Given the description of an element on the screen output the (x, y) to click on. 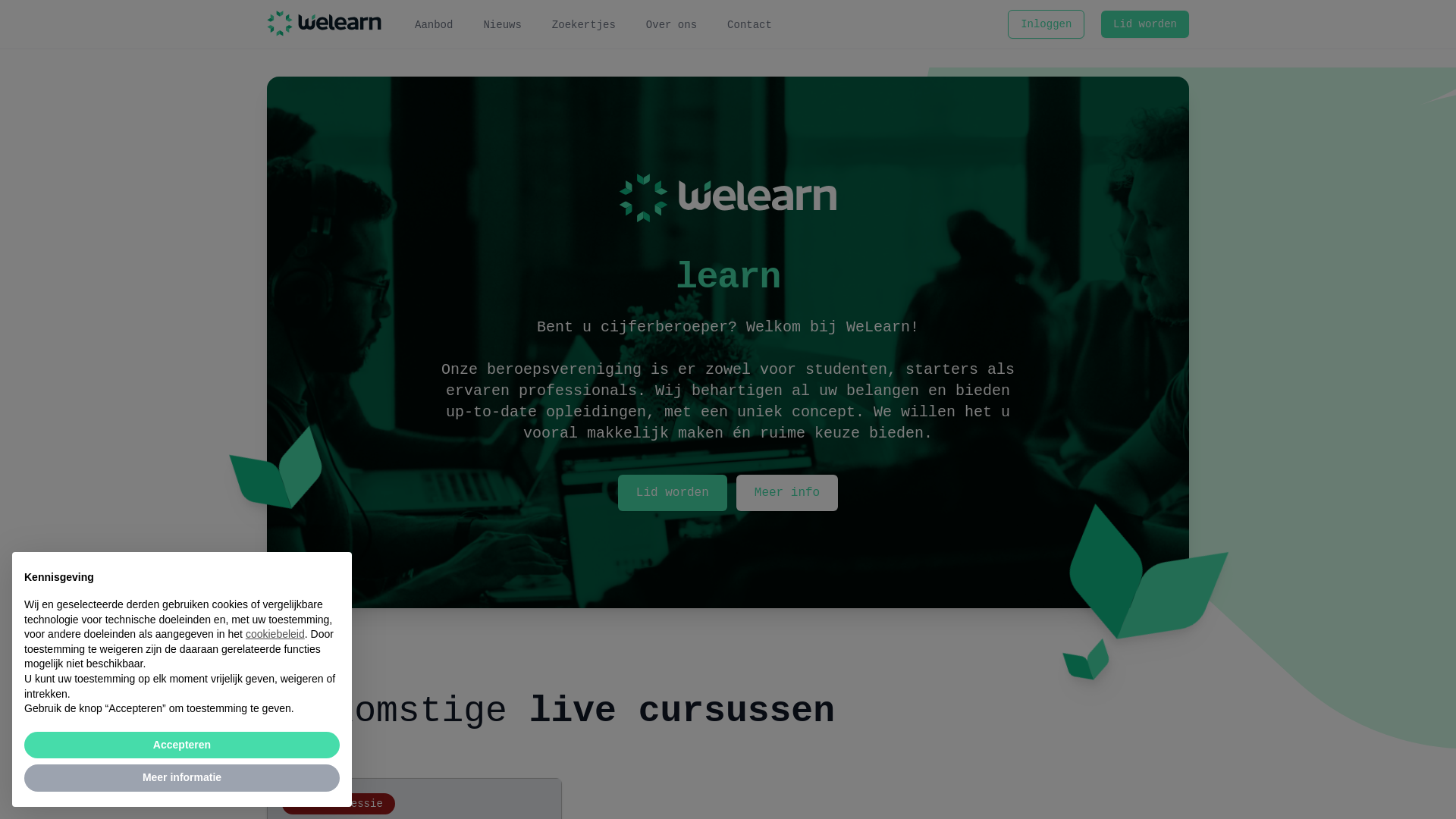
cookiebeleid Element type: text (274, 633)
Lid worden Element type: text (1145, 23)
Meer info Element type: text (786, 492)
Accepteren Element type: text (181, 745)
Meer informatie Element type: text (181, 777)
Inloggen Element type: text (1045, 23)
Lid worden Element type: text (672, 492)
